Given the description of an element on the screen output the (x, y) to click on. 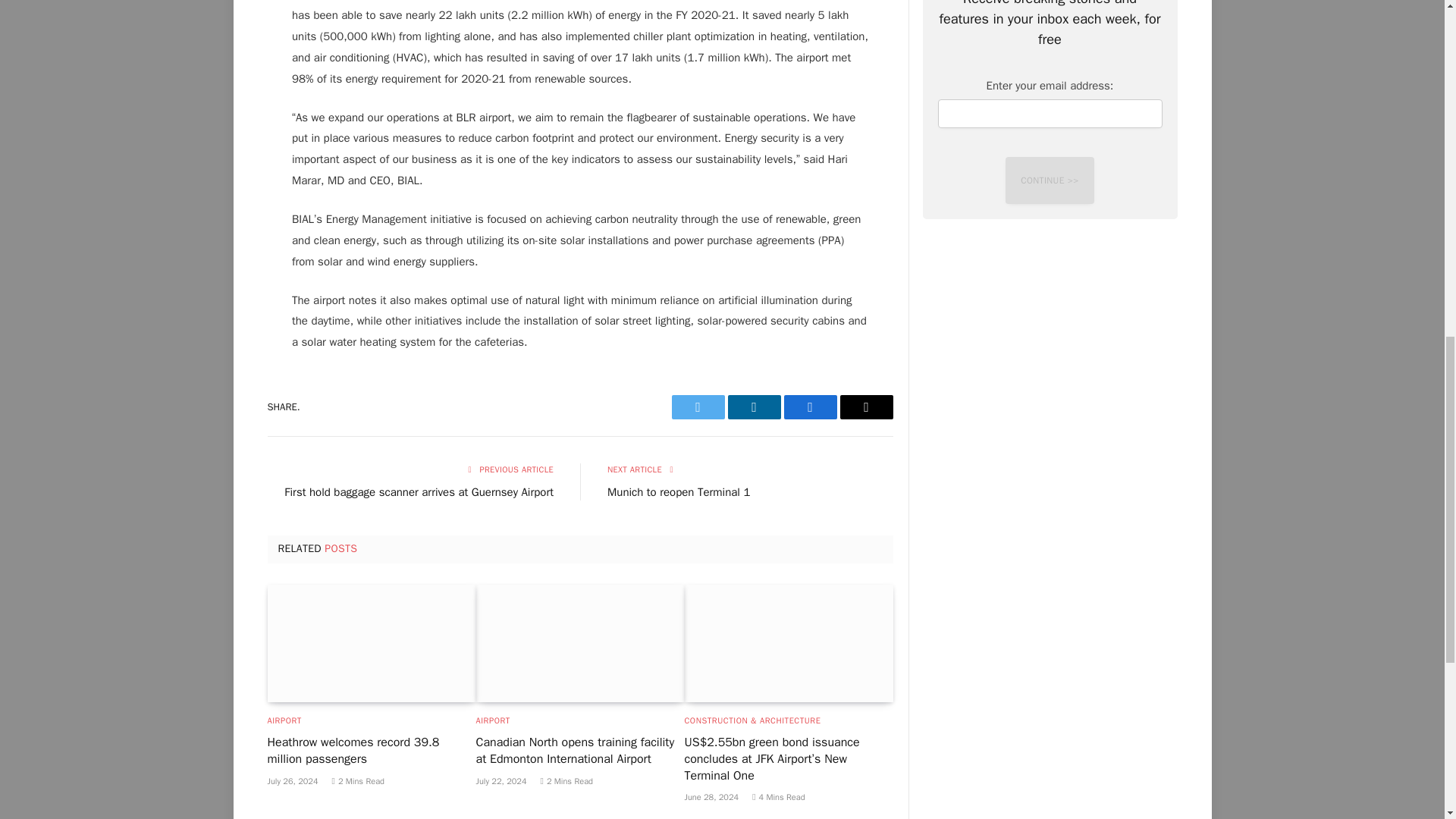
Share via Email (866, 406)
Heathrow welcomes record 39.8 million passengers (371, 642)
Share on LinkedIn (754, 406)
Share on Facebook (810, 406)
